Given the description of an element on the screen output the (x, y) to click on. 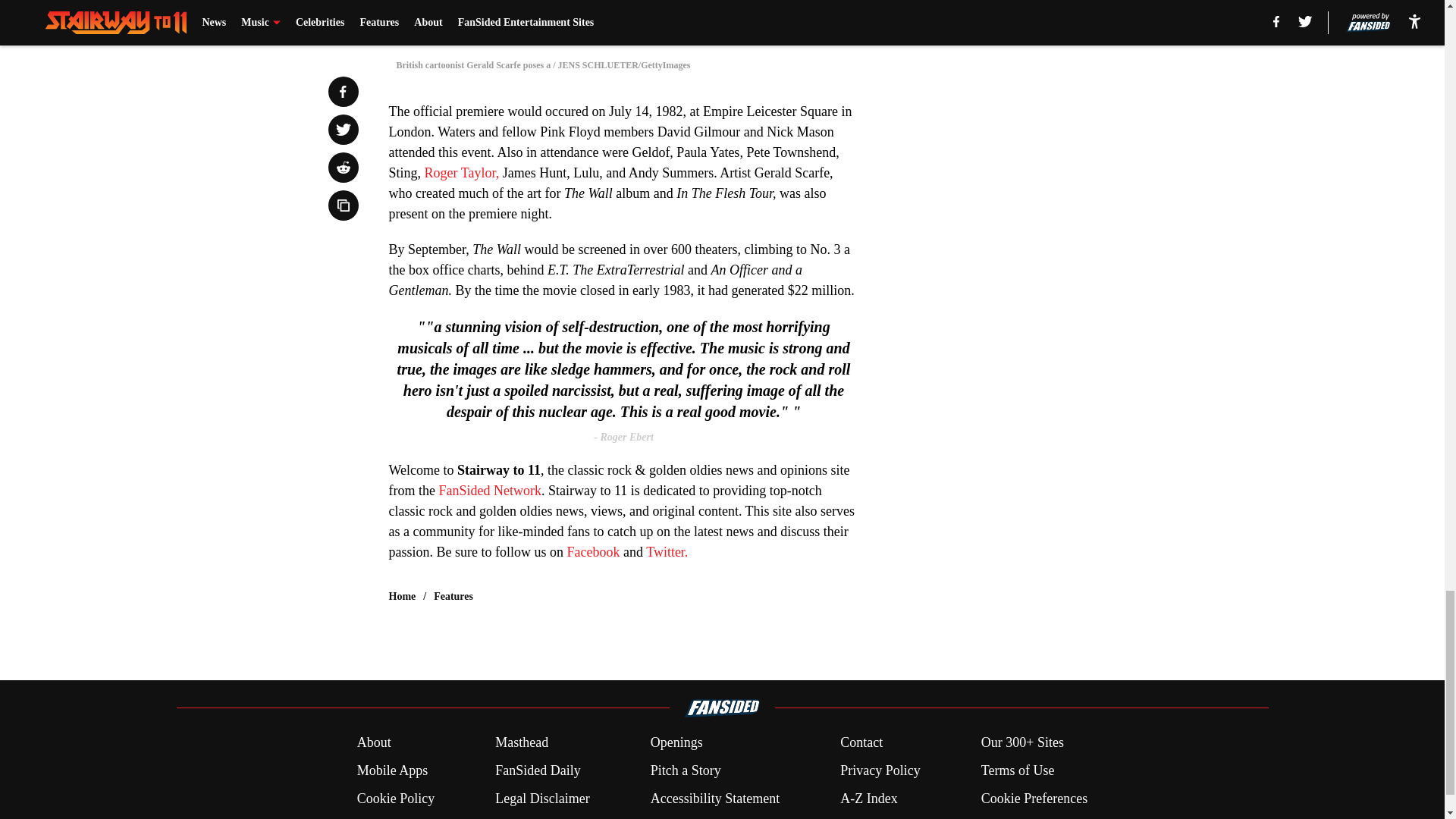
Roger Taylor, (459, 172)
Twitter. (666, 551)
Openings (676, 742)
Facebook  (594, 551)
Masthead (521, 742)
Pitch a Story (685, 770)
Terms of Use (1017, 770)
FanSided Daily (537, 770)
About (373, 742)
Privacy Policy (880, 770)
Mobile Apps (392, 770)
FanSided Network (489, 490)
Home (401, 596)
Features (453, 596)
Contact (861, 742)
